Given the description of an element on the screen output the (x, y) to click on. 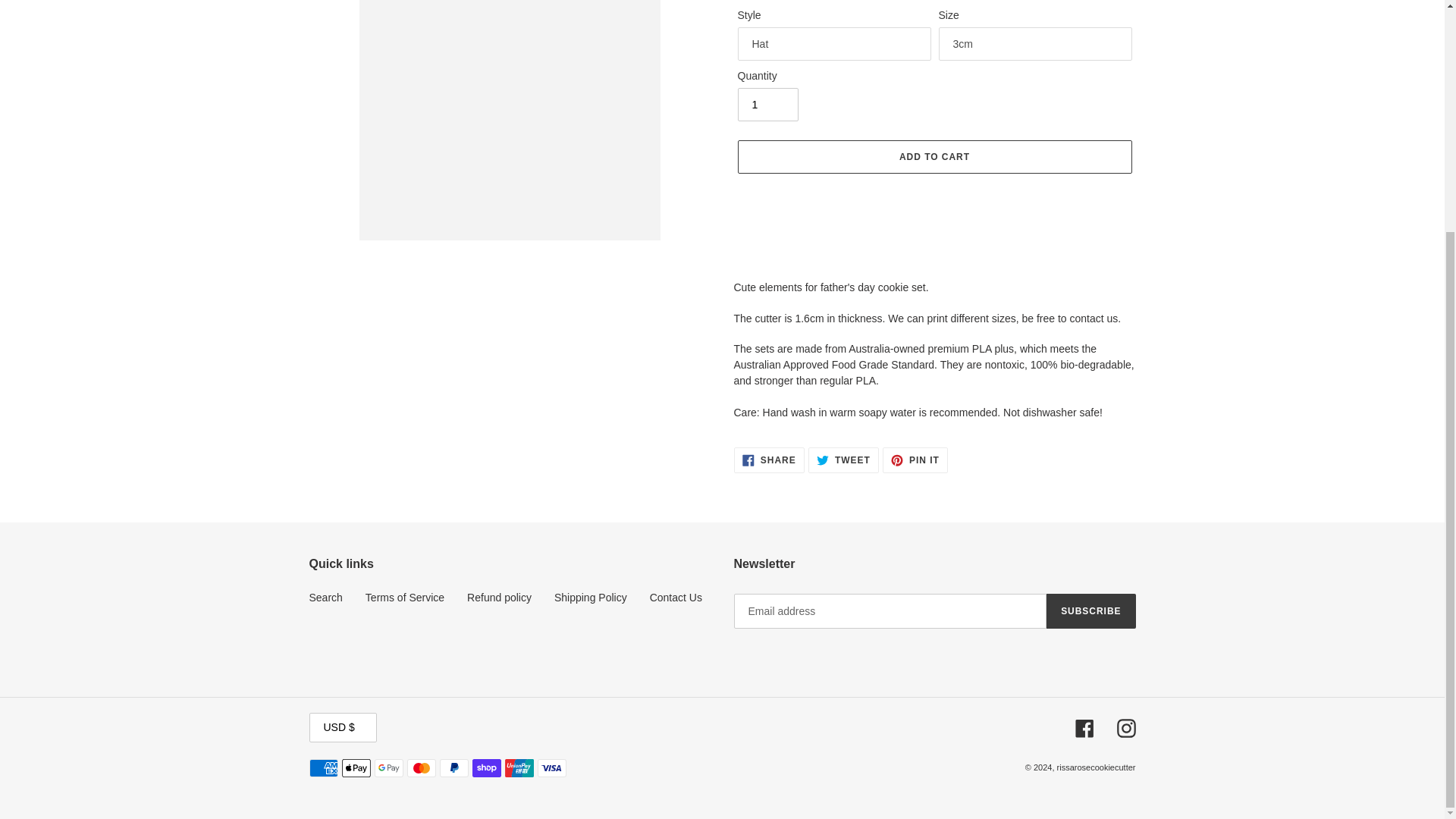
1 (766, 104)
